Given the description of an element on the screen output the (x, y) to click on. 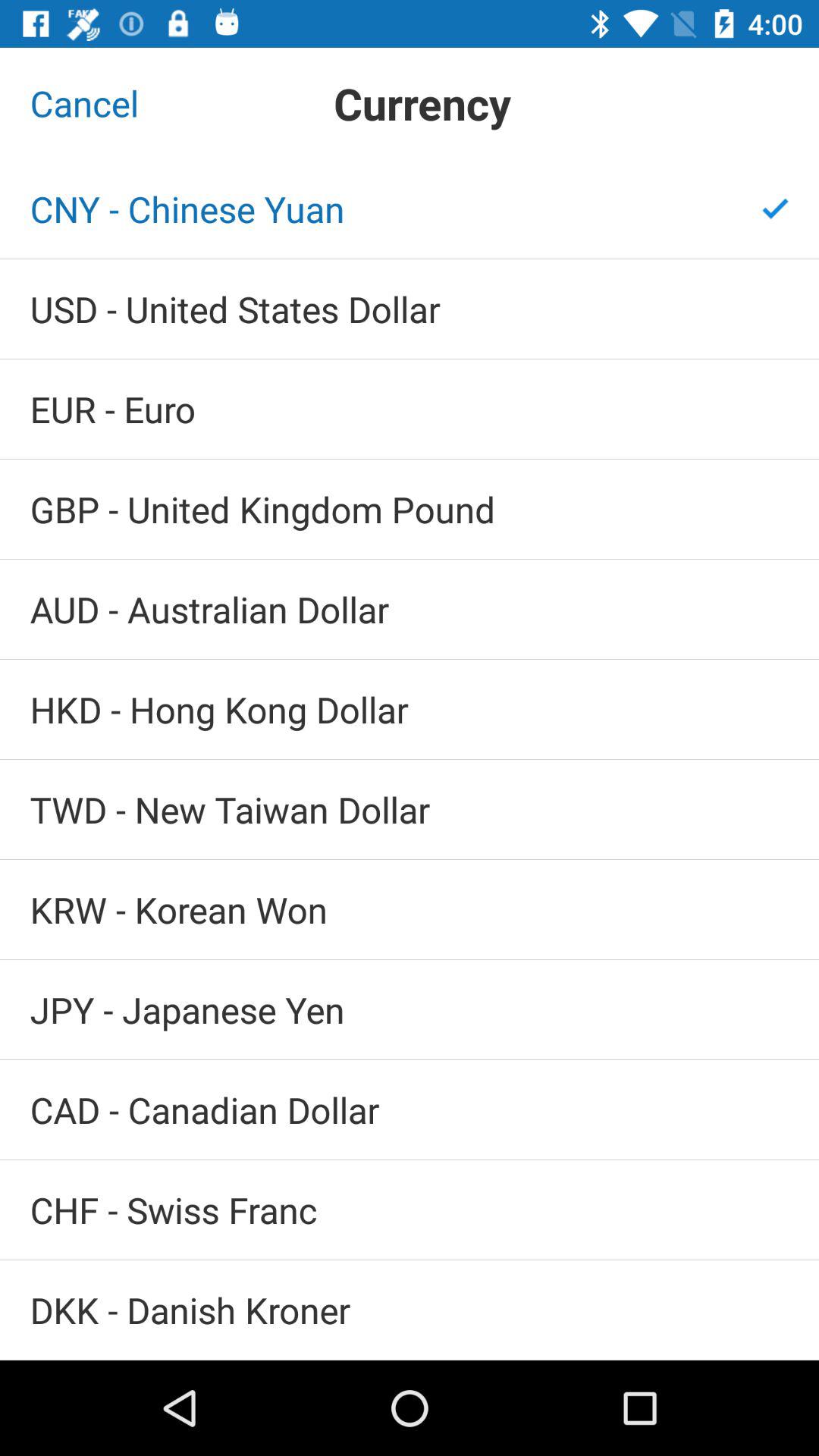
turn on twd new taiwan icon (409, 809)
